Given the description of an element on the screen output the (x, y) to click on. 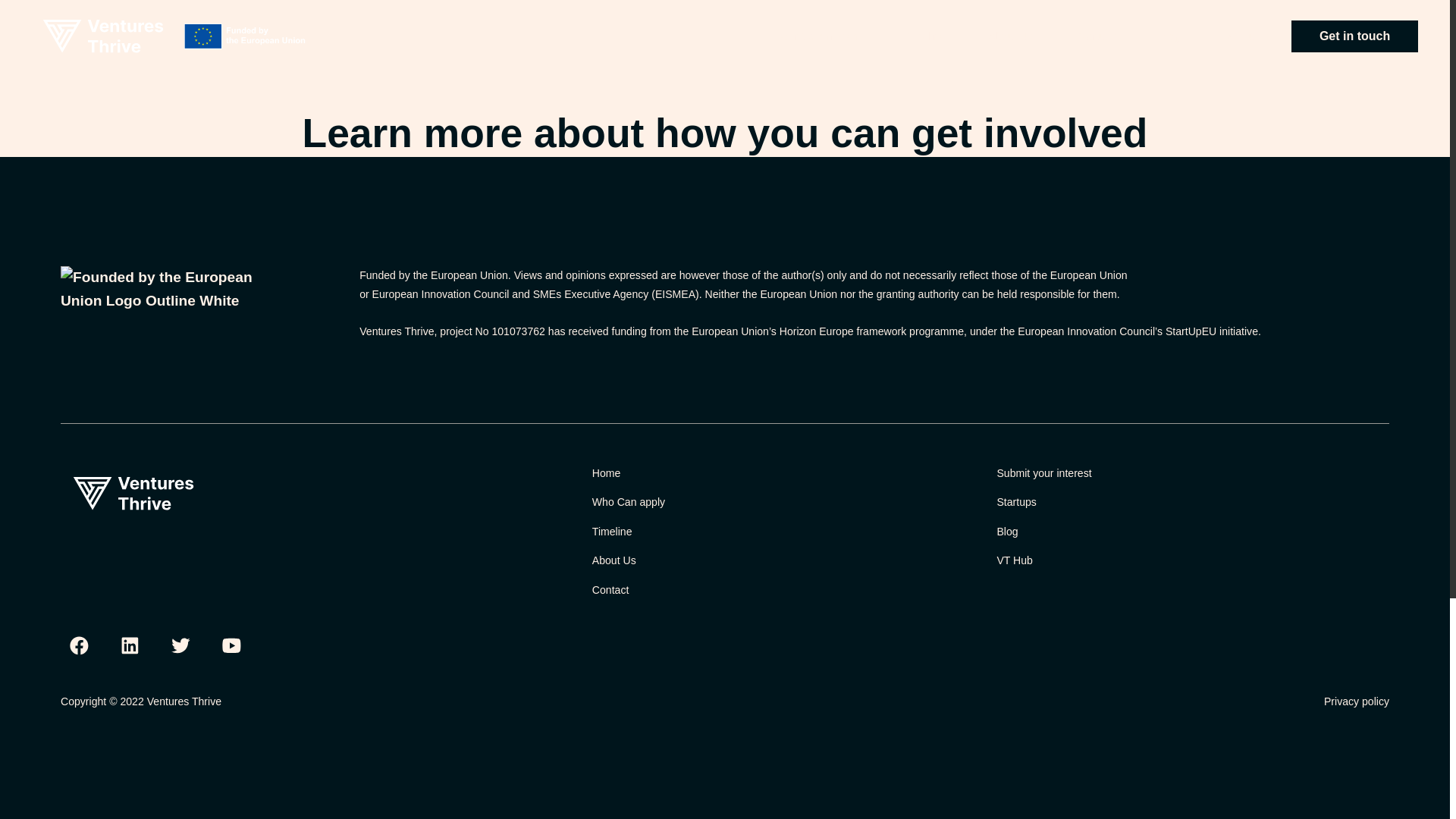
Startups (1192, 502)
About Us (788, 560)
Blog (1192, 531)
Timeline (788, 531)
Submit your interest (1192, 473)
Contact (788, 589)
Who Can apply (788, 502)
Get in touch (725, 30)
Home (788, 473)
VT Hub (1192, 560)
